Given the description of an element on the screen output the (x, y) to click on. 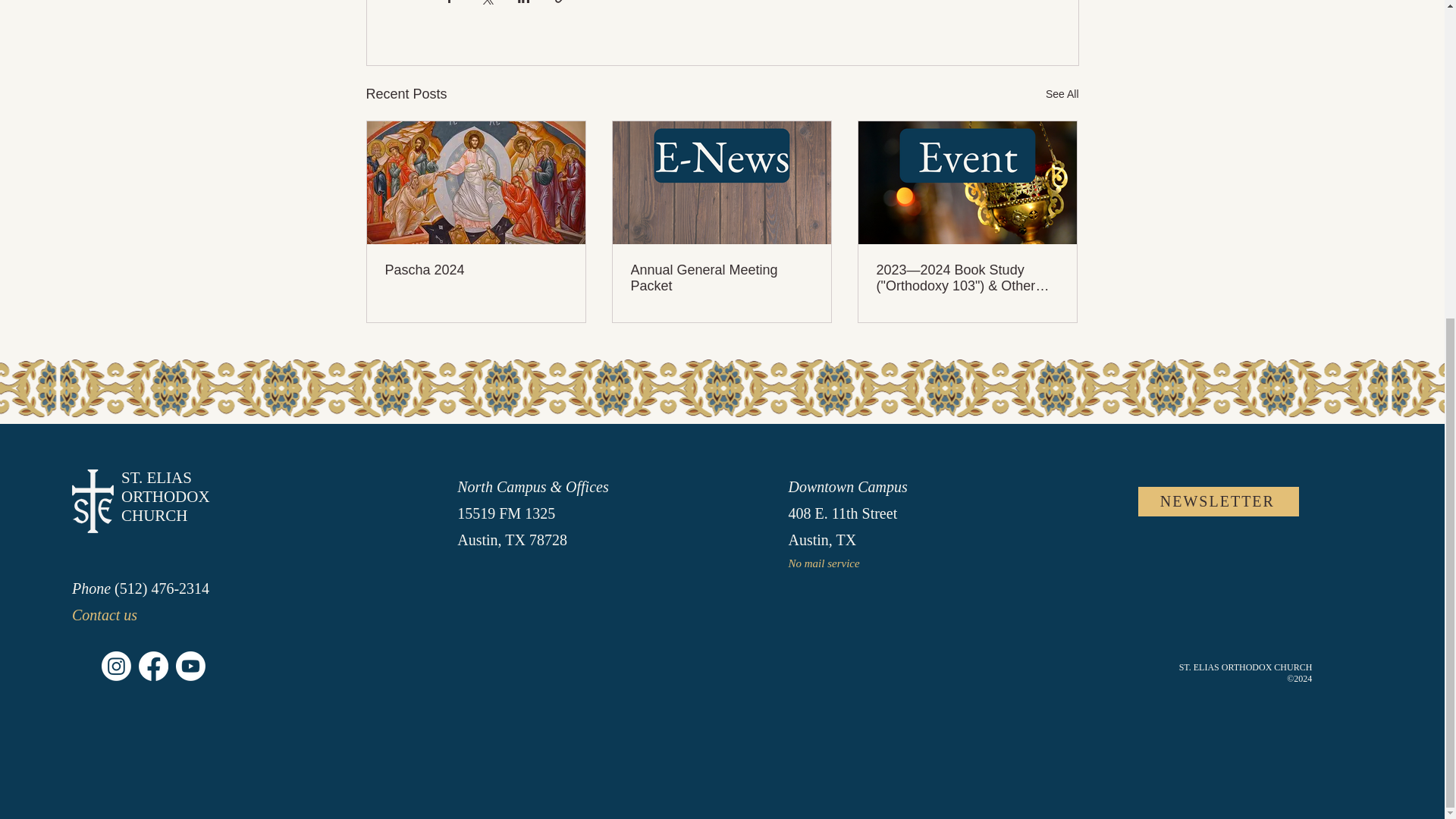
Pascha 2024 (476, 270)
Annual General Meeting Packet (721, 278)
Contact us (103, 614)
See All (1061, 94)
ST. ELIAS ORTHODOX CHURCH (164, 496)
